Given the description of an element on the screen output the (x, y) to click on. 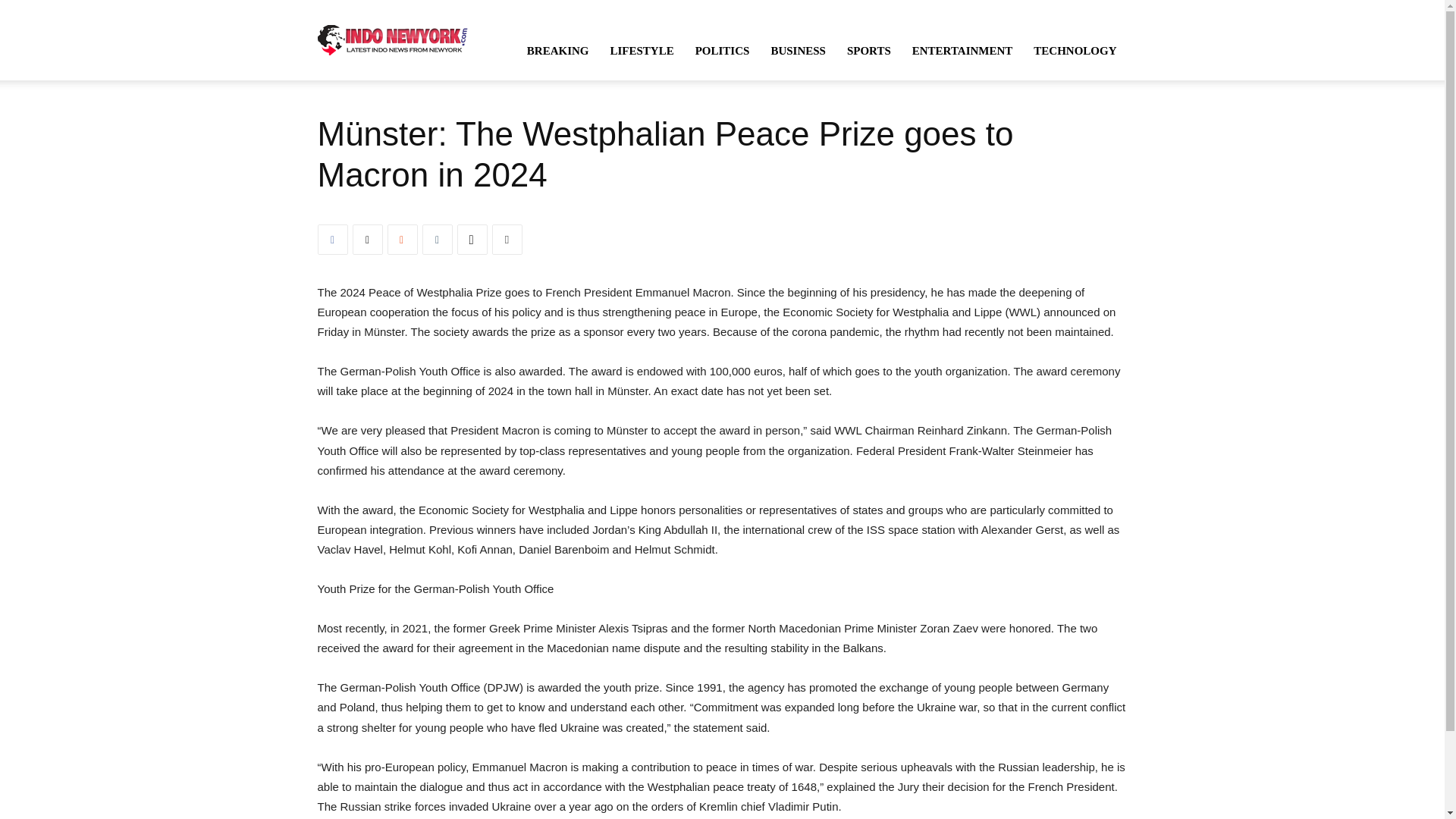
LIFESTYLE (641, 50)
Digg (471, 239)
Print (506, 239)
Indo Newyork (392, 39)
Tumblr (436, 239)
Facebook (332, 239)
Twitter (366, 239)
POLITICS (722, 50)
TECHNOLOGY (1074, 50)
BREAKING (557, 50)
